Given the description of an element on the screen output the (x, y) to click on. 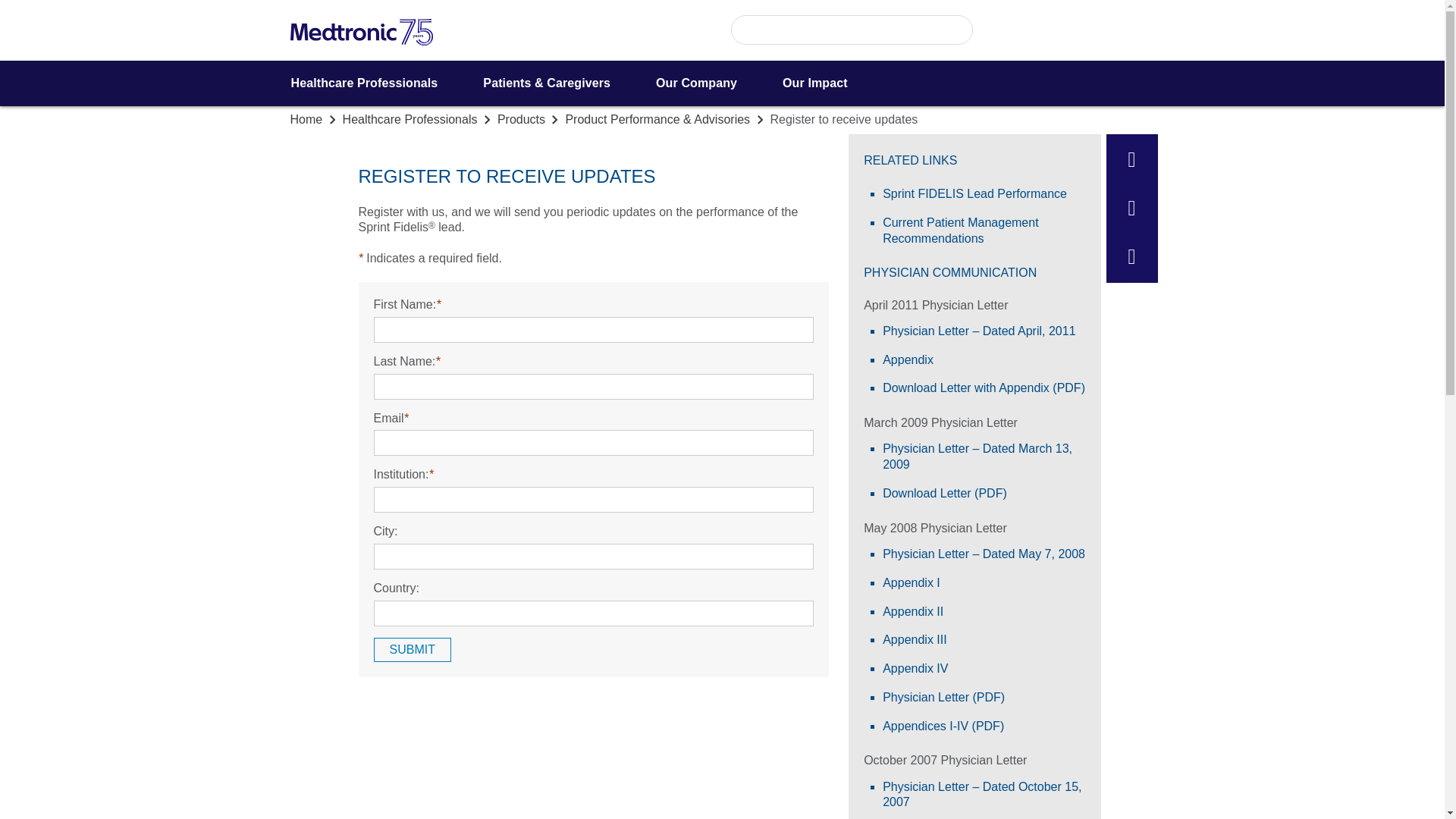
Submit (410, 649)
